Given the description of an element on the screen output the (x, y) to click on. 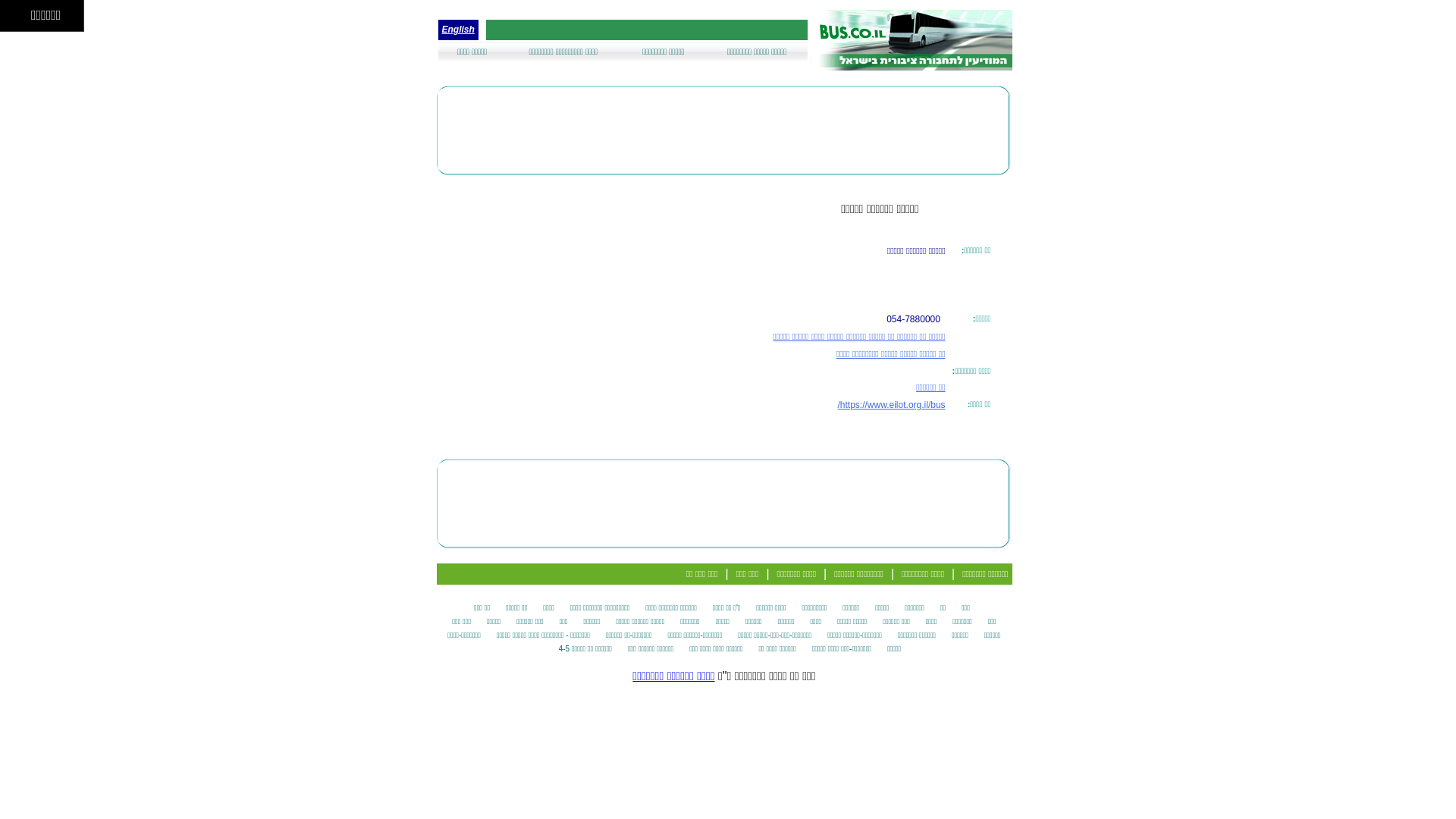
Advertisement Element type: hover (723, 503)
Advertisement Element type: hover (723, 130)
Advertisement Element type: hover (371, 302)
English Element type: text (457, 29)
Advertisement Element type: hover (715, 294)
https://www.eilot.org.il/bus/ Element type: text (890, 404)
